Given the description of an element on the screen output the (x, y) to click on. 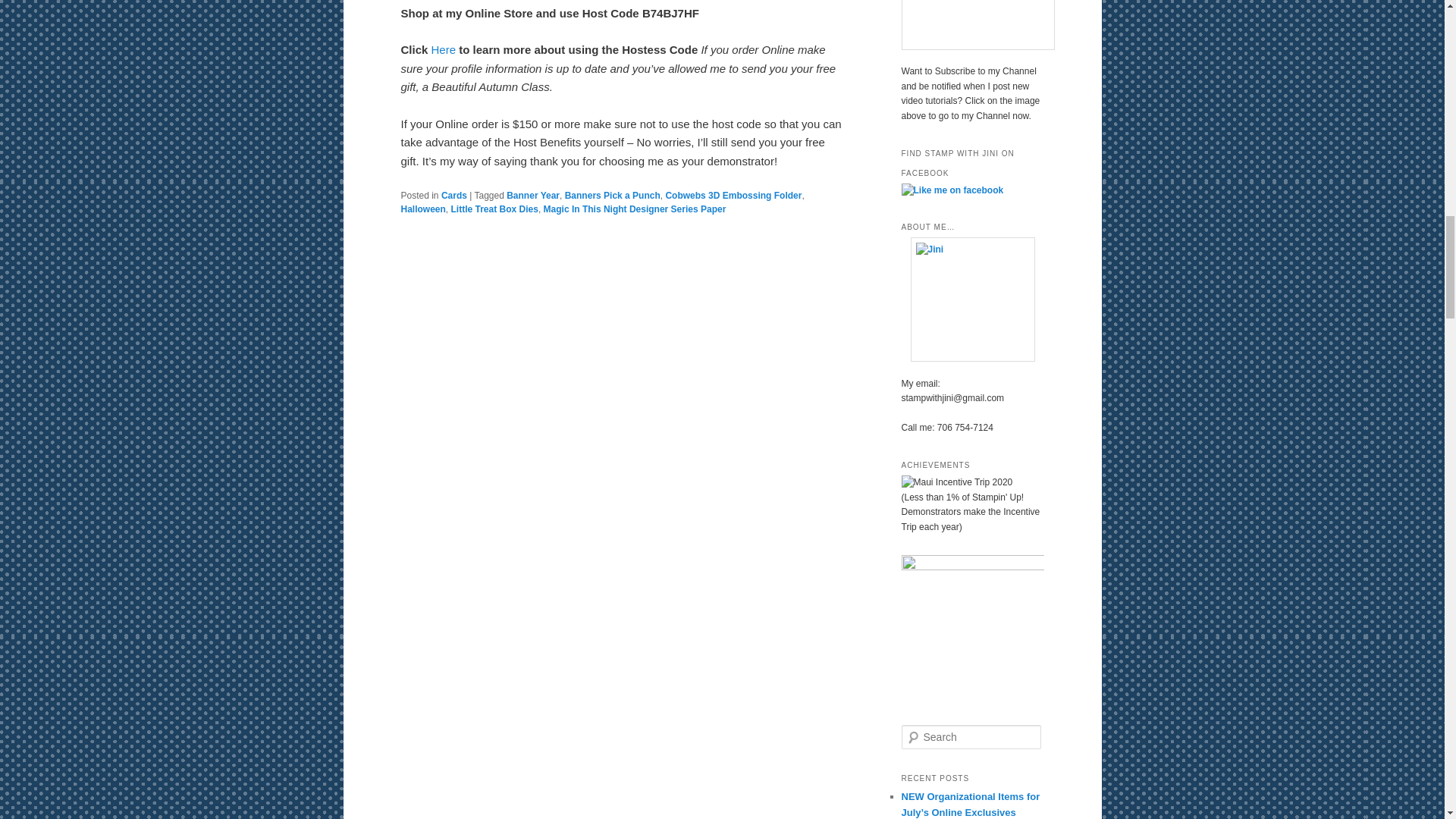
Find Stamp with Jini on facebook (952, 190)
Here (445, 49)
Cards (454, 195)
Banners Pick a Punch (612, 195)
Banner Year (532, 195)
Cobwebs 3D Embossing Folder (733, 195)
